Given the description of an element on the screen output the (x, y) to click on. 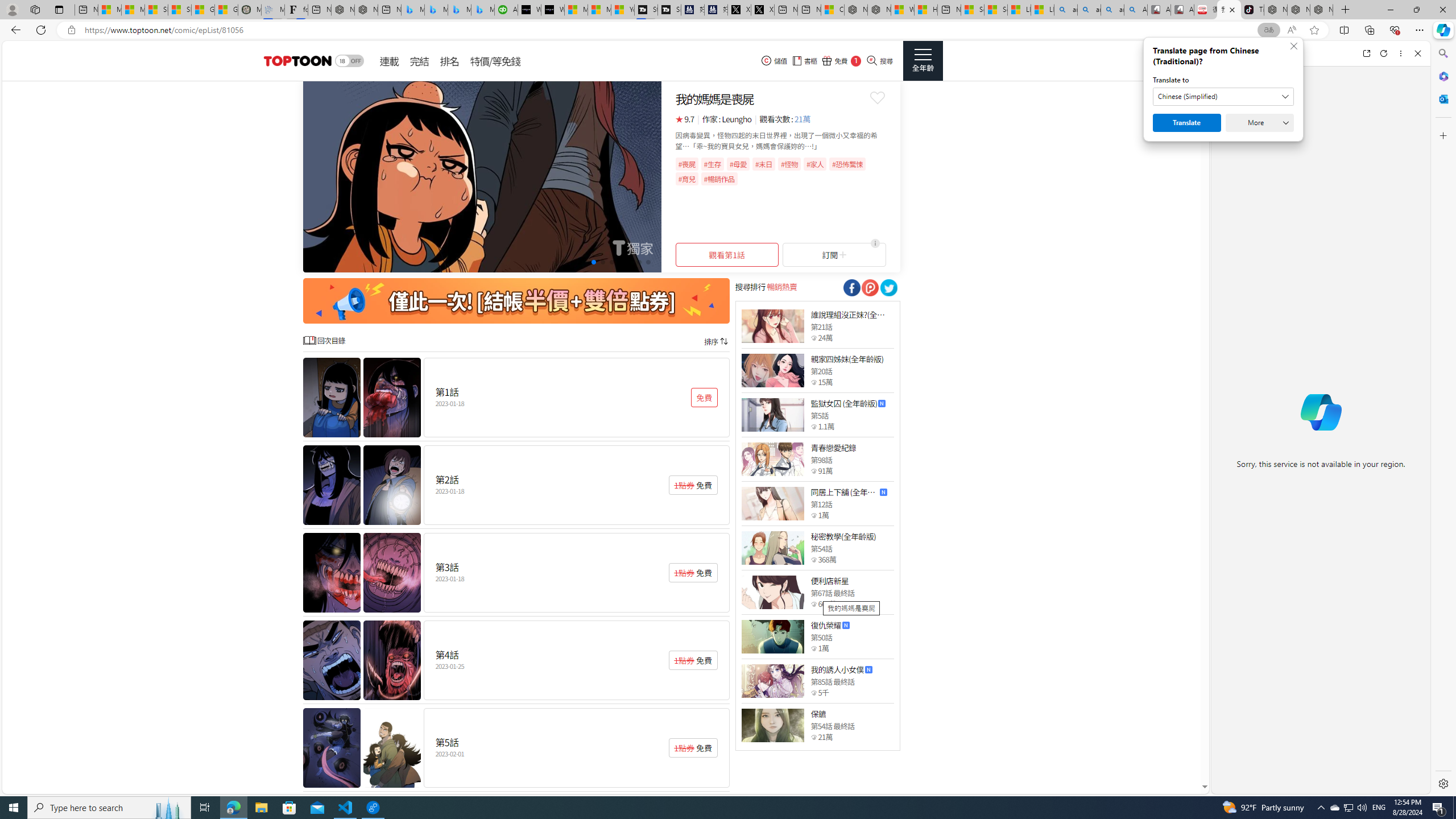
Go to slide 9 (639, 261)
Go to slide 4 (593, 261)
Side bar (1443, 418)
Chat (1231, 52)
Class: epicon_starpoint (813, 736)
Microsoft 365 (1442, 76)
Translate to (1223, 96)
